Given the description of an element on the screen output the (x, y) to click on. 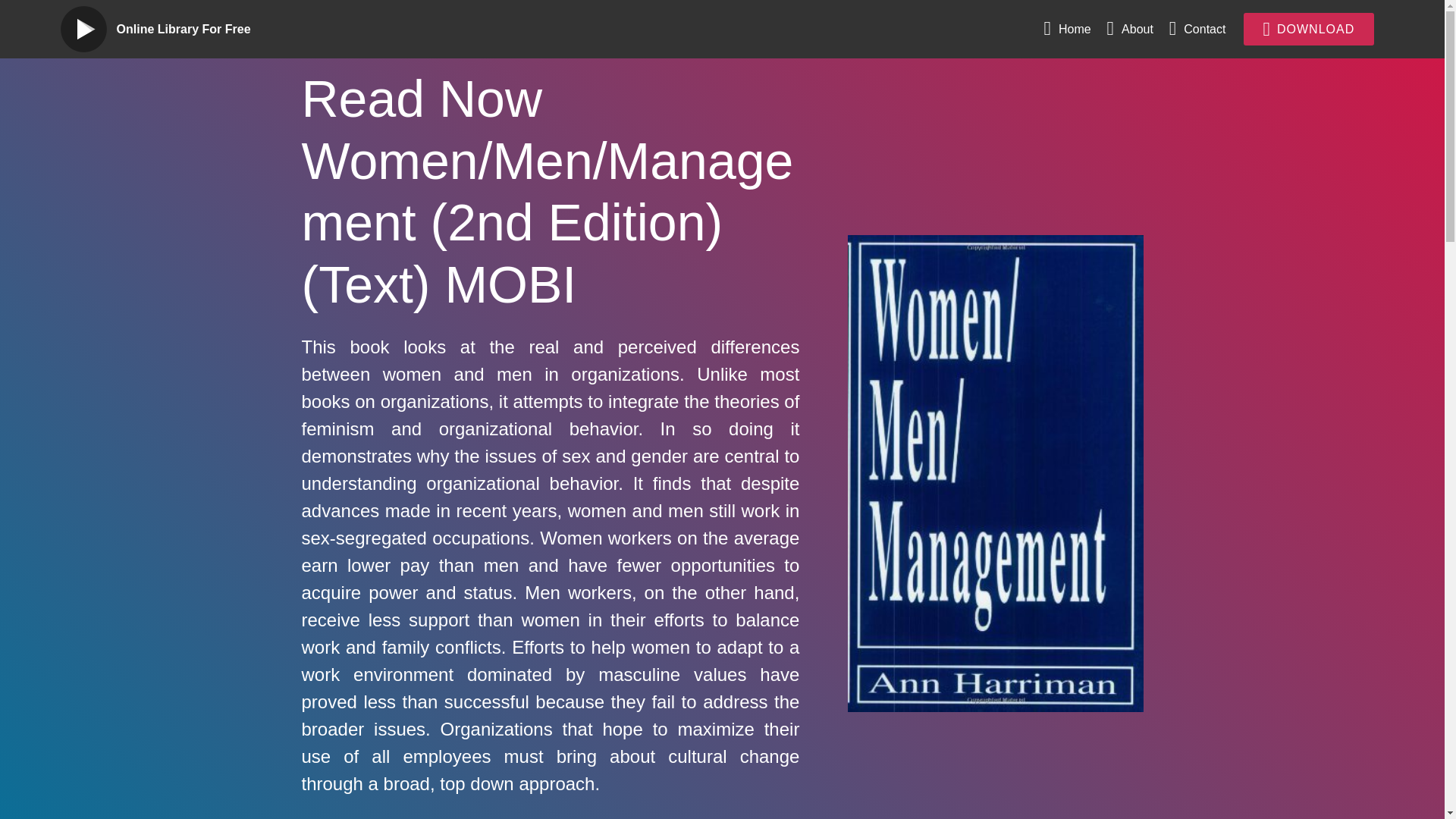
About (1129, 28)
DOWNLOAD (1308, 29)
Home (1066, 28)
Online Library For Free (195, 29)
Contact (1197, 28)
